Given the description of an element on the screen output the (x, y) to click on. 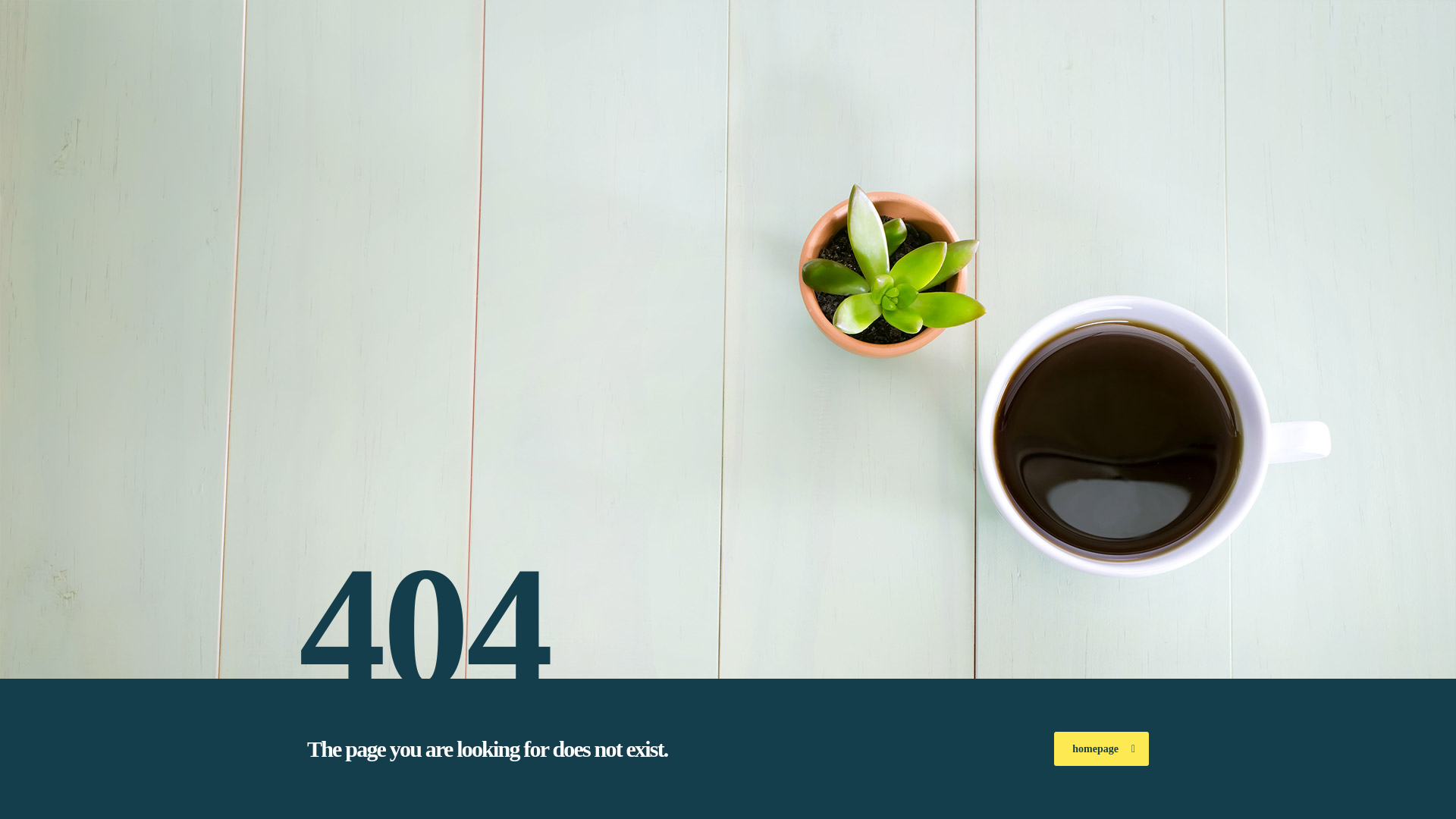
homepage (1101, 748)
